Given the description of an element on the screen output the (x, y) to click on. 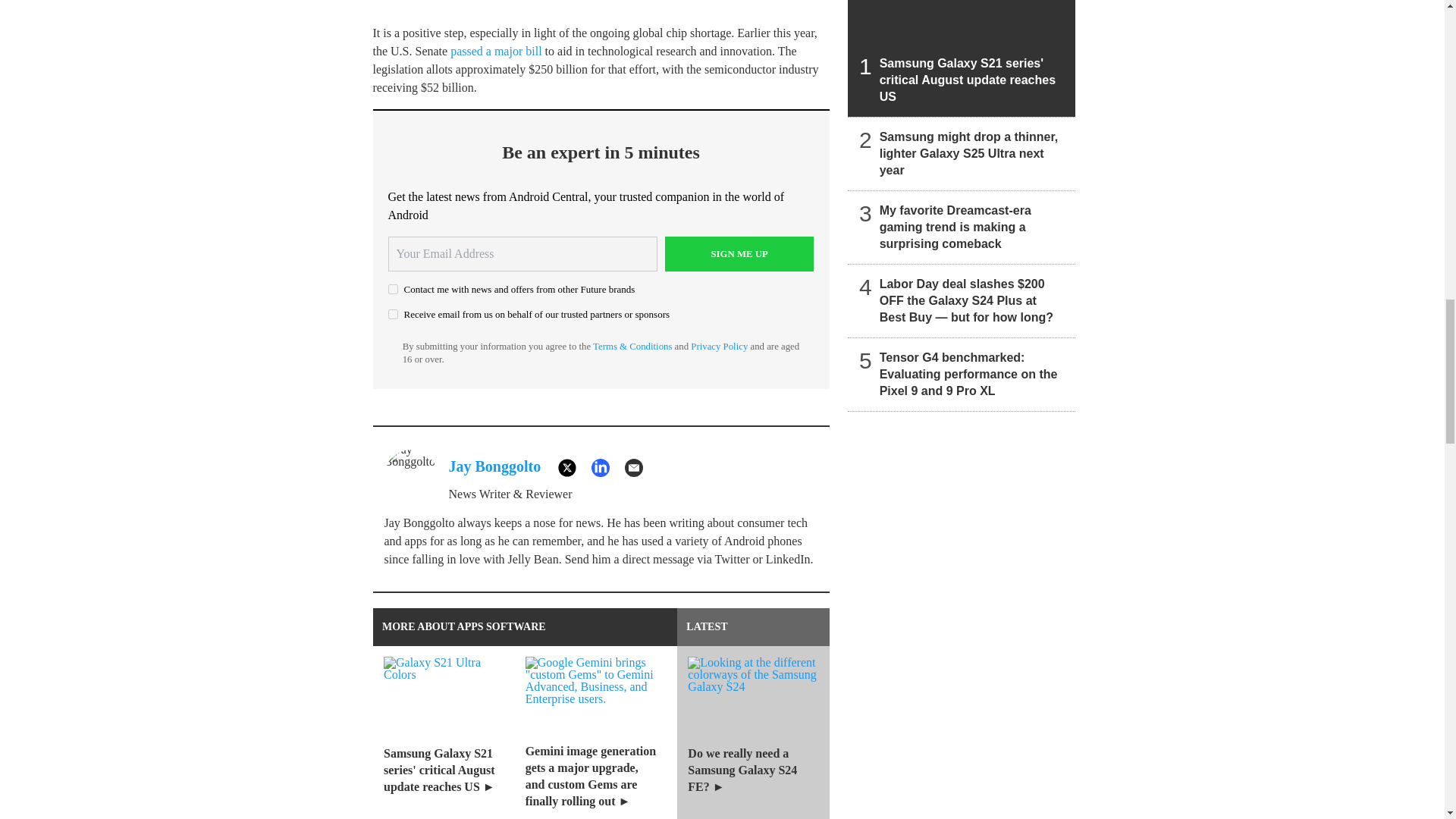
Sign me up (739, 253)
on (392, 289)
on (392, 314)
Samsung Galaxy S21 series' critical August update reaches US (961, 58)
